Given the description of an element on the screen output the (x, y) to click on. 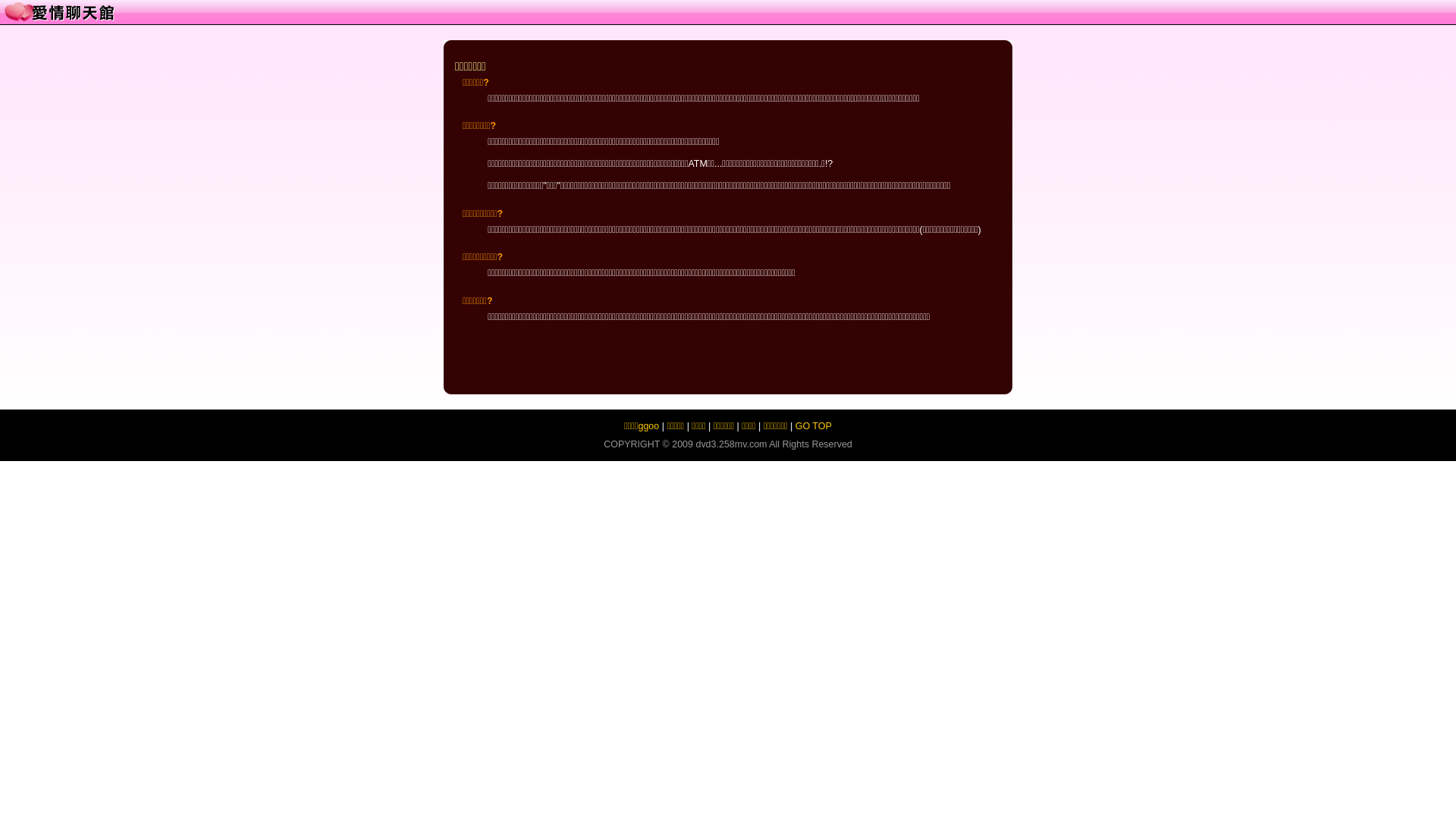
GO TOP Element type: text (813, 425)
dvd3.258mv.com Element type: text (730, 444)
